Given the description of an element on the screen output the (x, y) to click on. 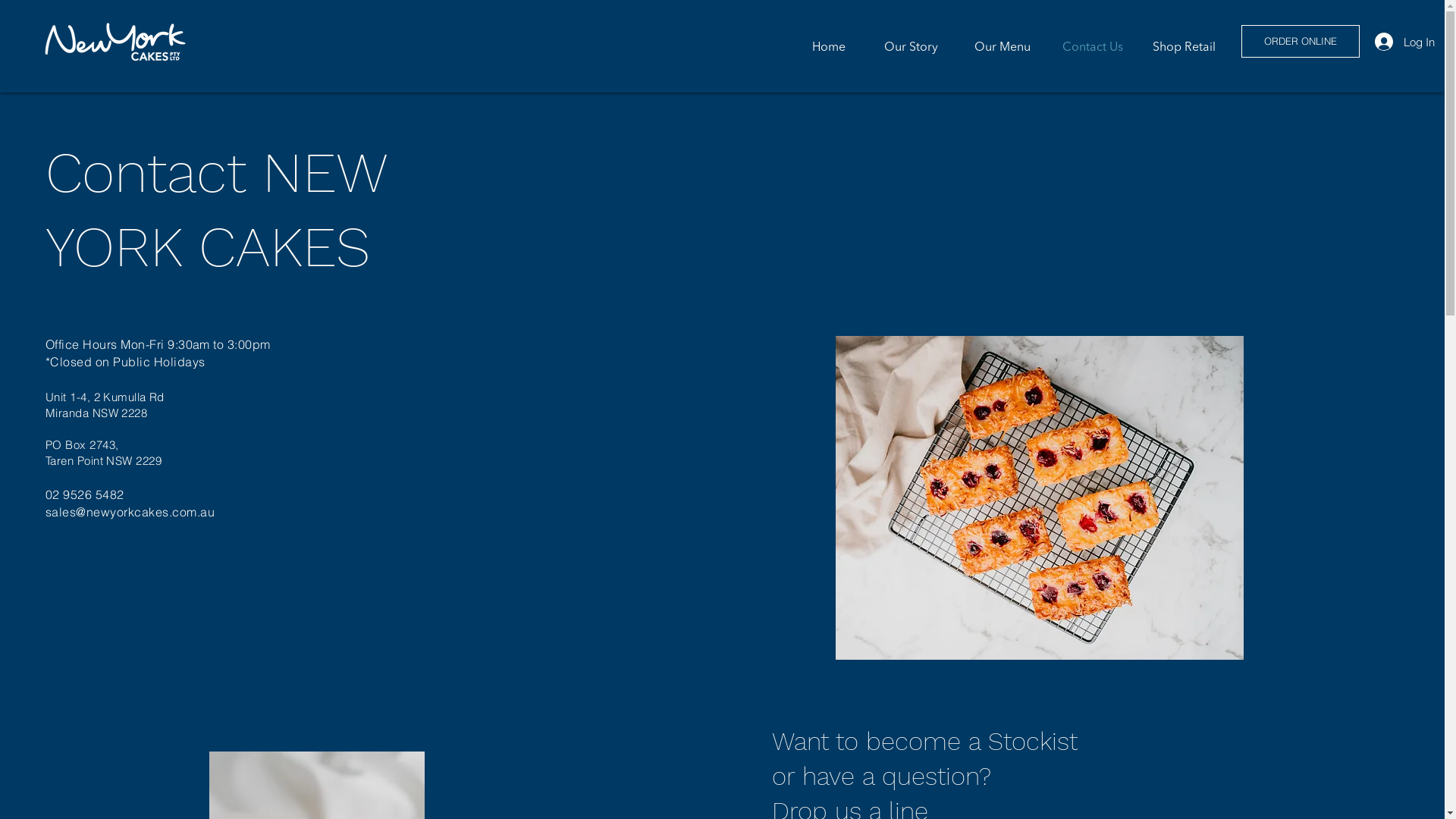
Contact Us Element type: text (1087, 46)
Our Story Element type: text (902, 46)
sales@newyorkcakes.com.au Element type: text (129, 511)
Our Menu Element type: text (995, 46)
Shop Retail Element type: text (1180, 46)
ORDER ONLINE Element type: text (1300, 41)
Log In Element type: text (1381, 41)
Home Element type: text (809, 46)
